Given the description of an element on the screen output the (x, y) to click on. 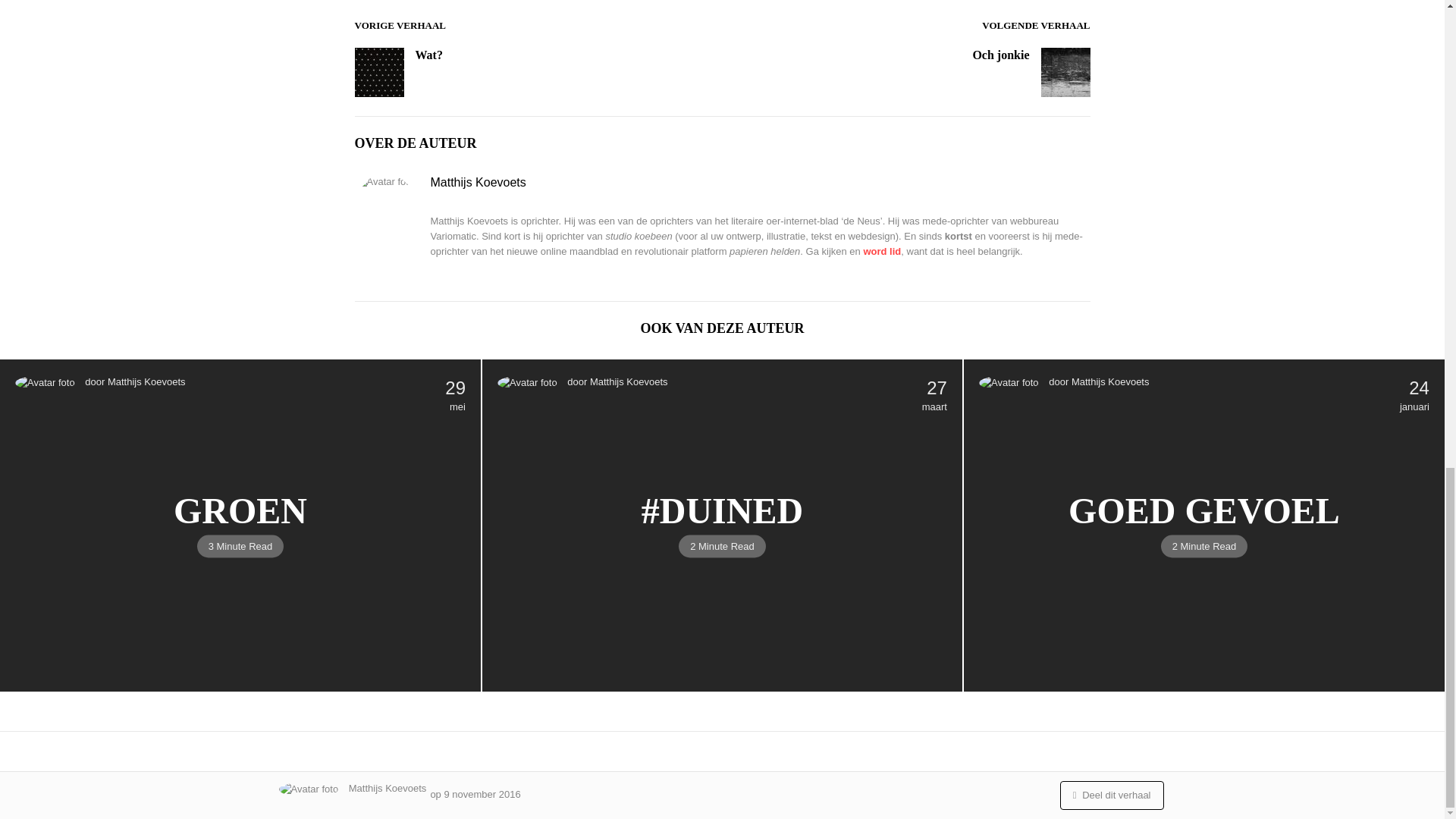
Berichten van Matthijs Koevoets (146, 381)
maart 27, 2024 (934, 396)
Goed gevoel (1203, 510)
Groen (240, 510)
Berichten van Matthijs Koevoets (1110, 381)
mei 29, 2024 (455, 396)
januari 24, 2024 (1414, 396)
Berichten van Matthijs Koevoets (628, 381)
